Given the description of an element on the screen output the (x, y) to click on. 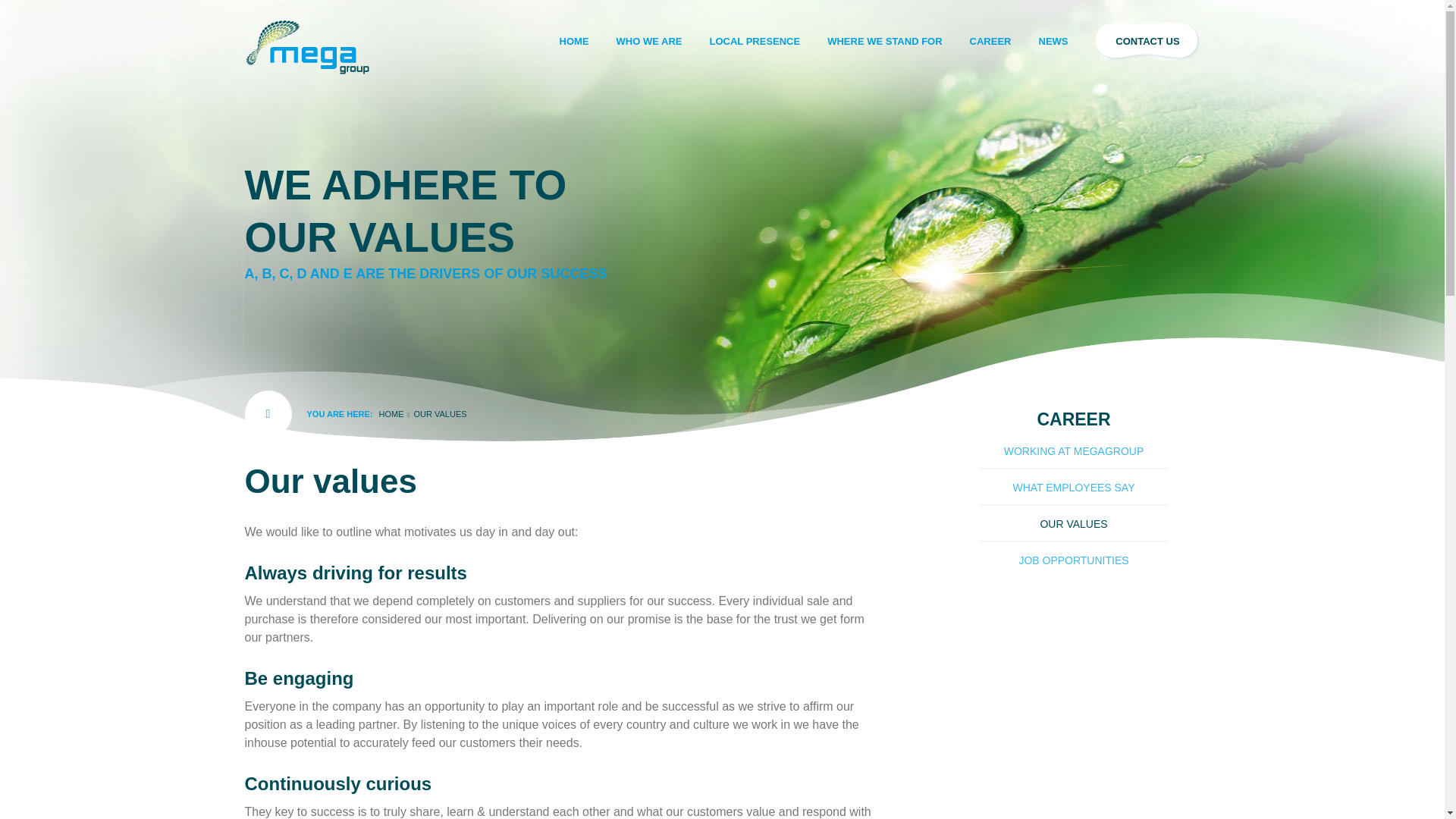
WHAT EMPLOYEES SAY (1073, 486)
Job opportunities (1073, 559)
Our values (1073, 523)
LOCAL PRESENCE (755, 41)
JOB OPPORTUNITIES (1073, 559)
CONTACT US (1146, 41)
Working at MegaGroup (1073, 450)
CAREER (990, 41)
WHERE WE STAND FOR (884, 41)
What employees say (1073, 486)
